Given the description of an element on the screen output the (x, y) to click on. 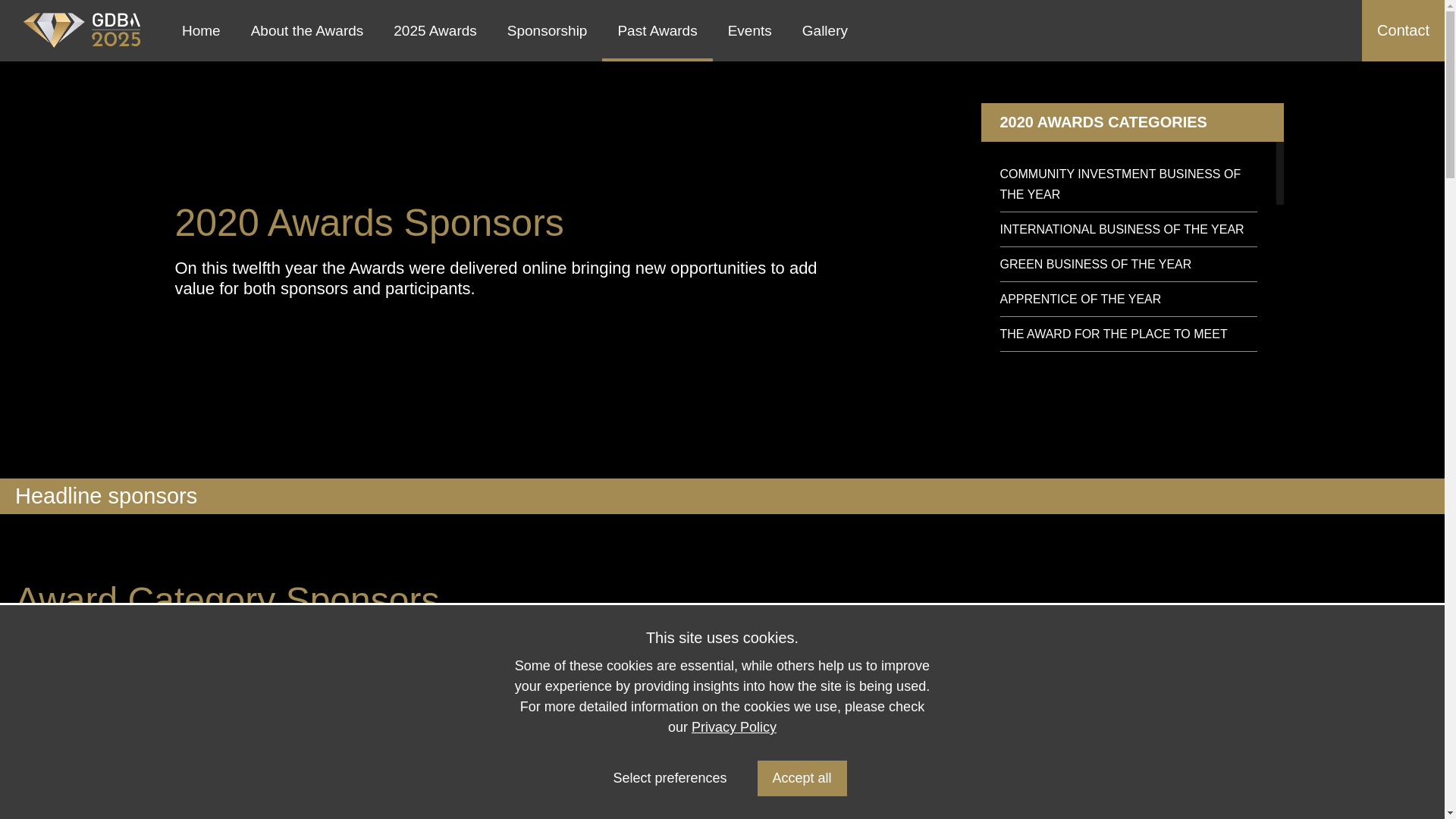
Gallery (825, 30)
THE AWARD FOR BRIGHTER THINKING (1127, 493)
Events (750, 30)
INTERNATIONAL BUSINESS OF THE YEAR (1127, 228)
BUSINESS PERSON OF THE YEAR (1127, 799)
Past Awards (656, 30)
THE AWARD FOR THE PLACE TO MEET (1127, 333)
THE AWARD FOR DEVELOPING PEOPLE (1127, 402)
Home (201, 30)
2025 Awards (435, 30)
